Given the description of an element on the screen output the (x, y) to click on. 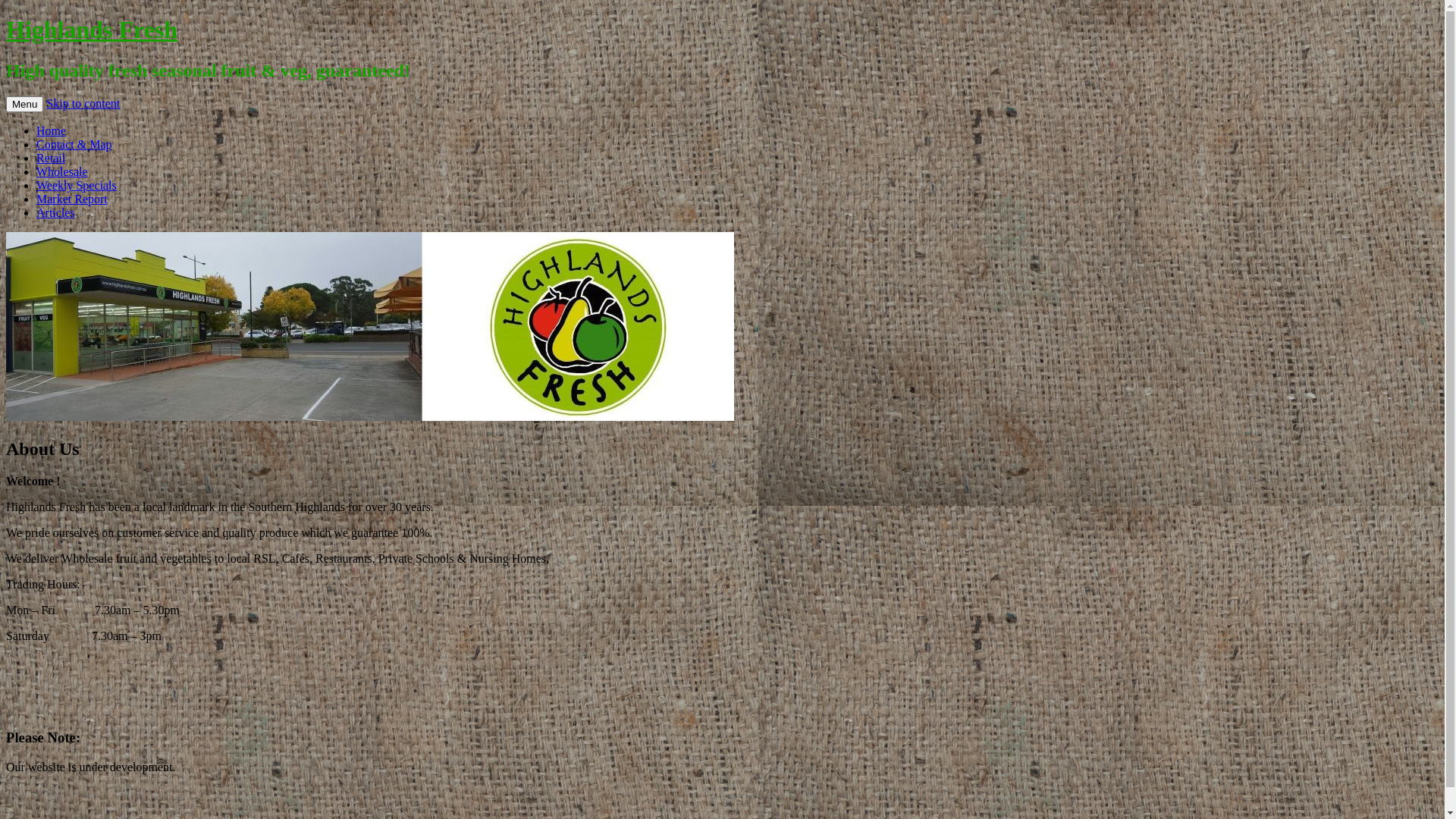
Wholesale Element type: text (61, 171)
Skip to content Element type: text (82, 103)
Home Element type: text (50, 130)
Market Report Element type: text (71, 198)
Articles Element type: text (55, 212)
Menu Element type: text (24, 104)
Retail Element type: text (50, 157)
Weekly Specials Element type: text (76, 184)
Contact & Map Element type: text (74, 144)
Highlands Fresh Element type: text (91, 29)
